Given the description of an element on the screen output the (x, y) to click on. 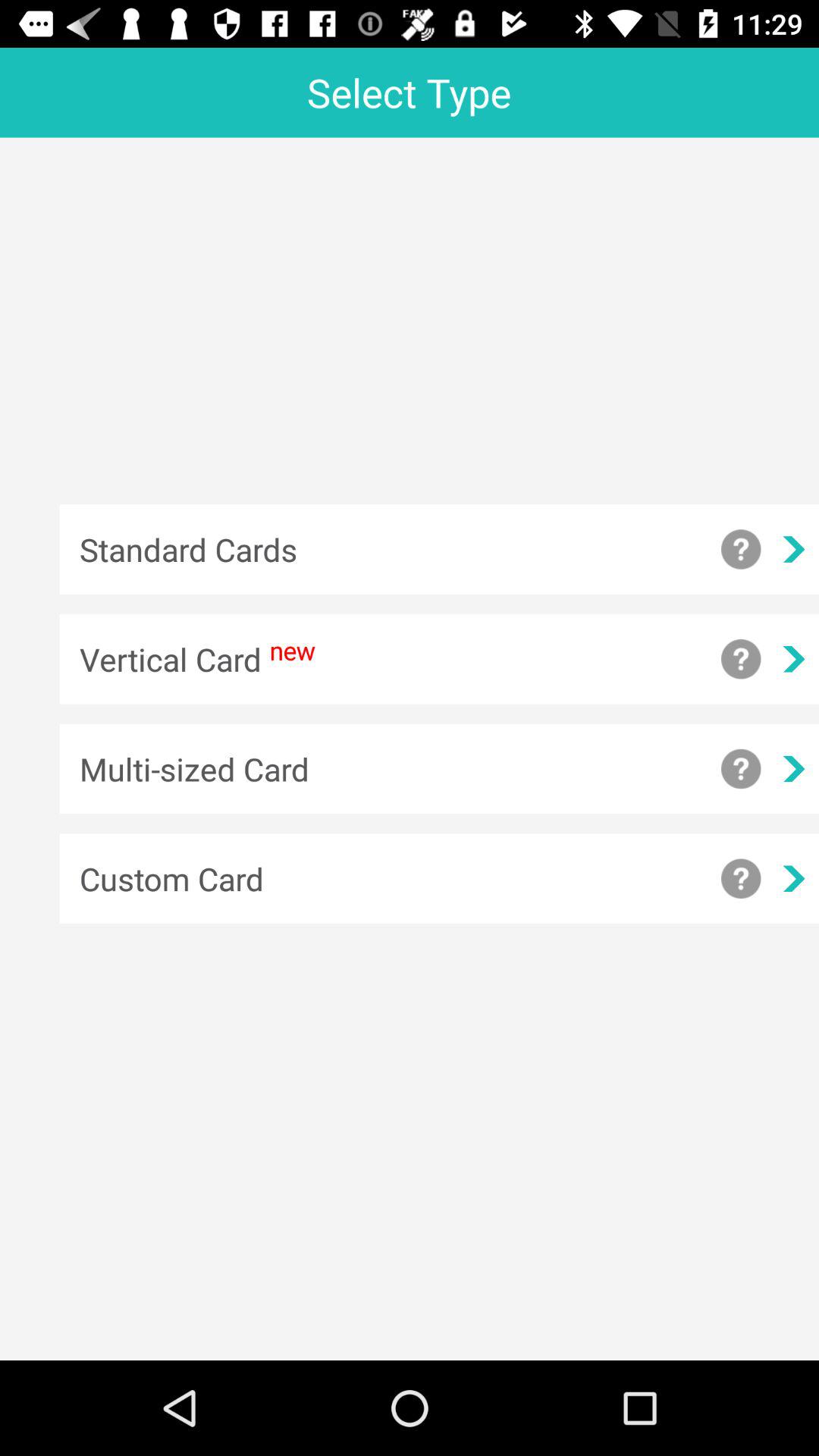
click to question mark symbol (740, 878)
